Given the description of an element on the screen output the (x, y) to click on. 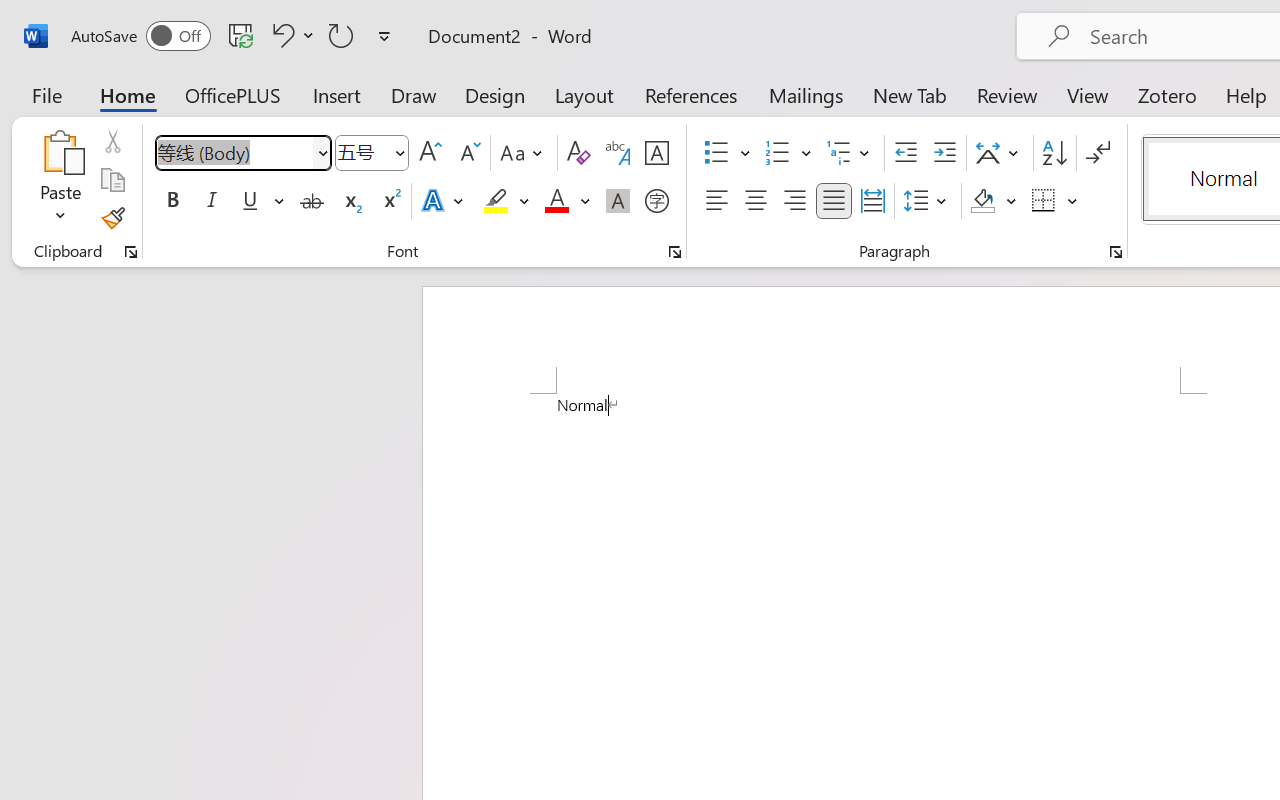
Insert (337, 94)
Shading RGB(0, 0, 0) (982, 201)
Open (399, 152)
Home (127, 94)
Justify (834, 201)
Grow Font (430, 153)
Paste (60, 179)
Character Shading (618, 201)
Cut (112, 141)
Shrink Font (468, 153)
Borders (1055, 201)
Clear Formatting (578, 153)
Paste (60, 151)
Text Effects and Typography (444, 201)
Font (234, 152)
